Given the description of an element on the screen output the (x, y) to click on. 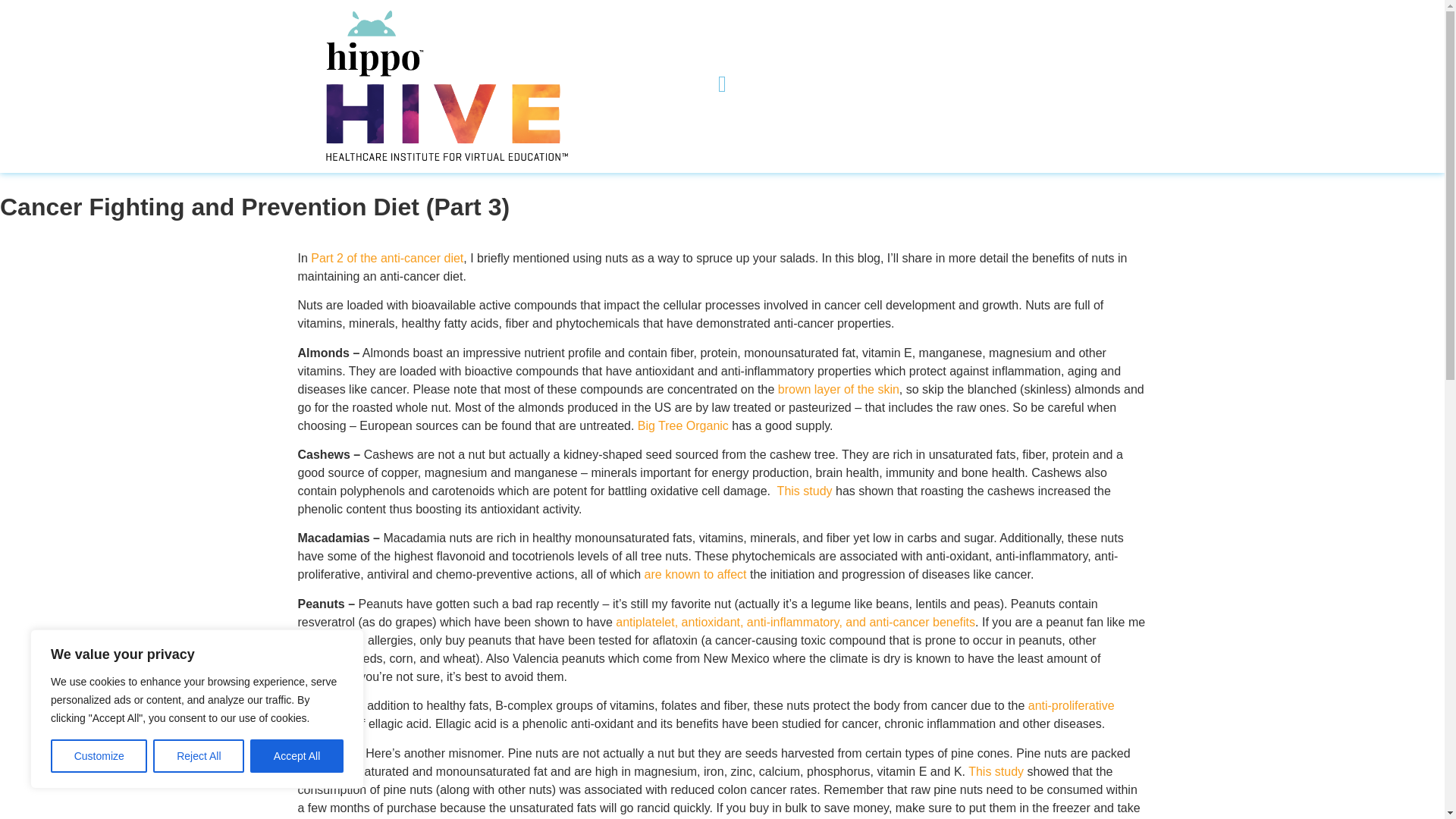
Part 2 of the anti-cancer diet (387, 257)
Accept All (296, 756)
brown layer of the skin (838, 389)
This study (804, 490)
anti-proliferative properties (705, 714)
This study (995, 771)
Big Tree Organic (683, 425)
Reject All (198, 756)
are known to affect (695, 574)
Customize (98, 756)
